Given the description of an element on the screen output the (x, y) to click on. 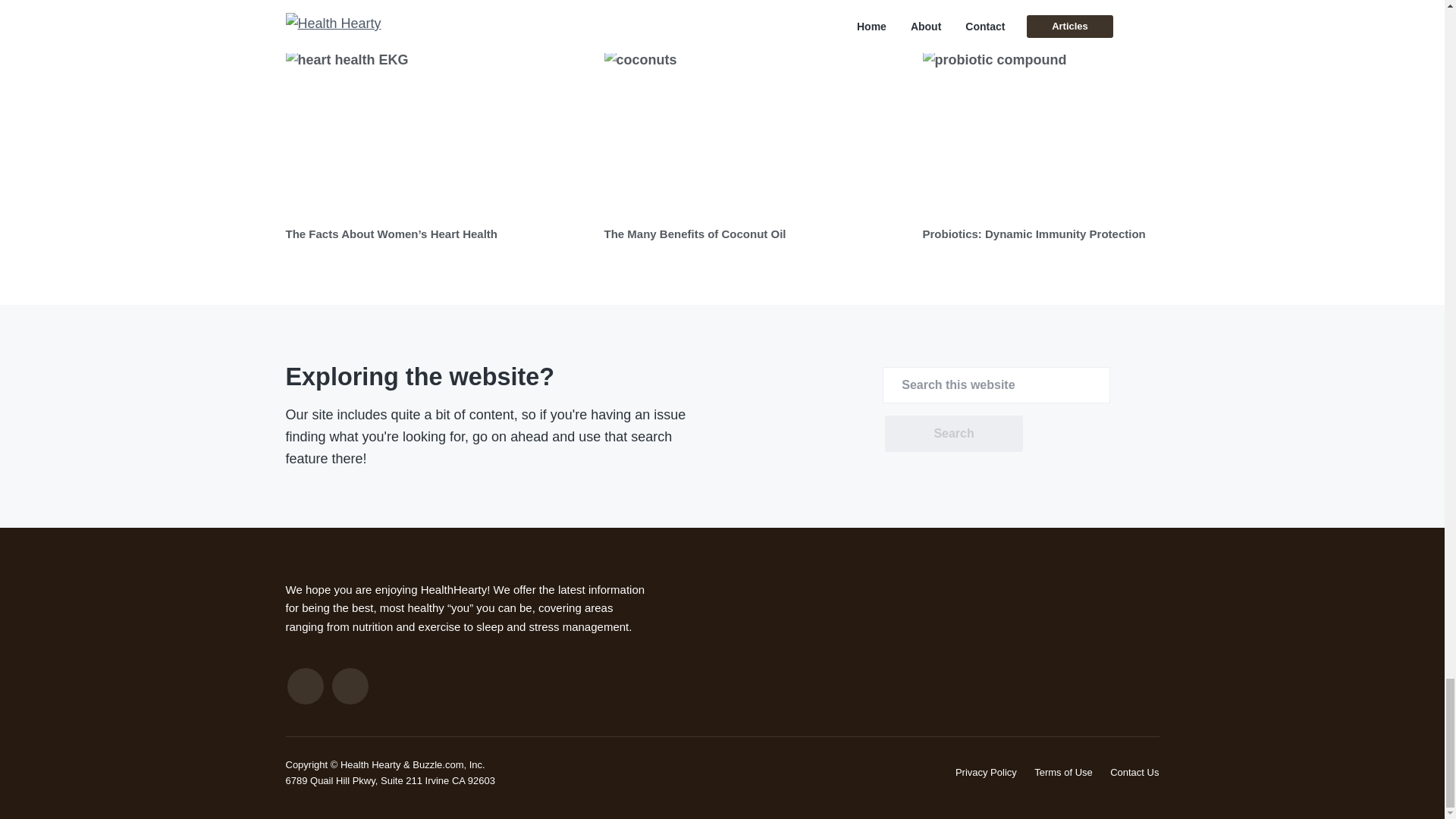
Search (953, 433)
Permanent Link (1032, 233)
Permanent Link (1073, 133)
The Many Benefits of Coconut Oil (695, 233)
Search (953, 433)
Terms of Use (1063, 772)
Privacy Policy (985, 772)
Probiotics: Dynamic Immunity Protection (1032, 233)
Permanent Link (391, 233)
Search (953, 433)
Permanent Link (755, 133)
Permanent Link (436, 133)
Permanent Link (695, 233)
